Given the description of an element on the screen output the (x, y) to click on. 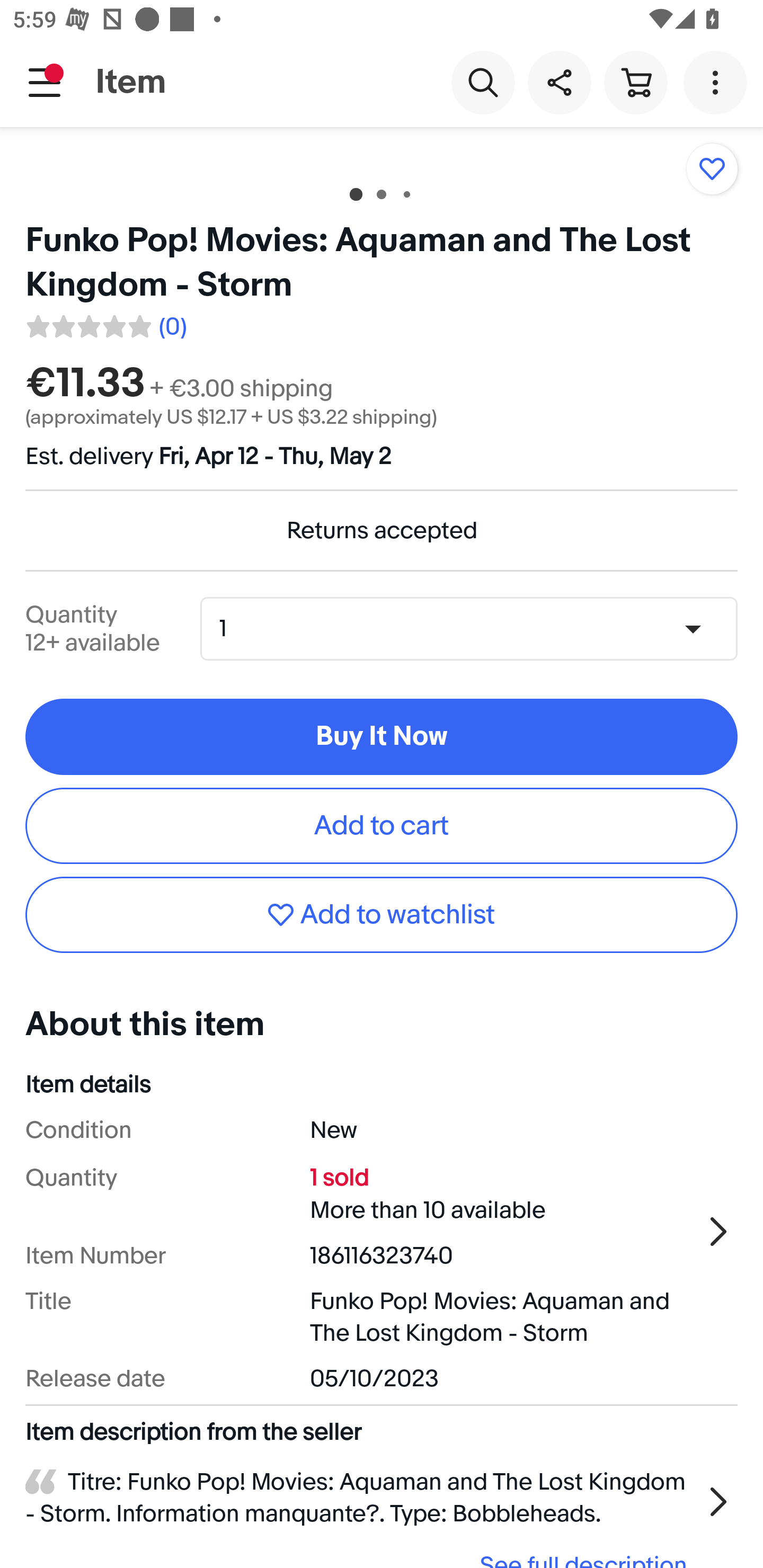
Main navigation, notification is pending, open (44, 82)
Search (482, 81)
Share this item (559, 81)
Cart button shopping cart (635, 81)
More options (718, 81)
Add to watchlist (711, 168)
0 reviews. Average rating 0.0 out of five 0.0 (0) (105, 322)
Quantity,1,12+ available 1 (474, 628)
Buy It Now (381, 736)
Add to cart (381, 825)
Add to watchlist (381, 914)
